Given the description of an element on the screen output the (x, y) to click on. 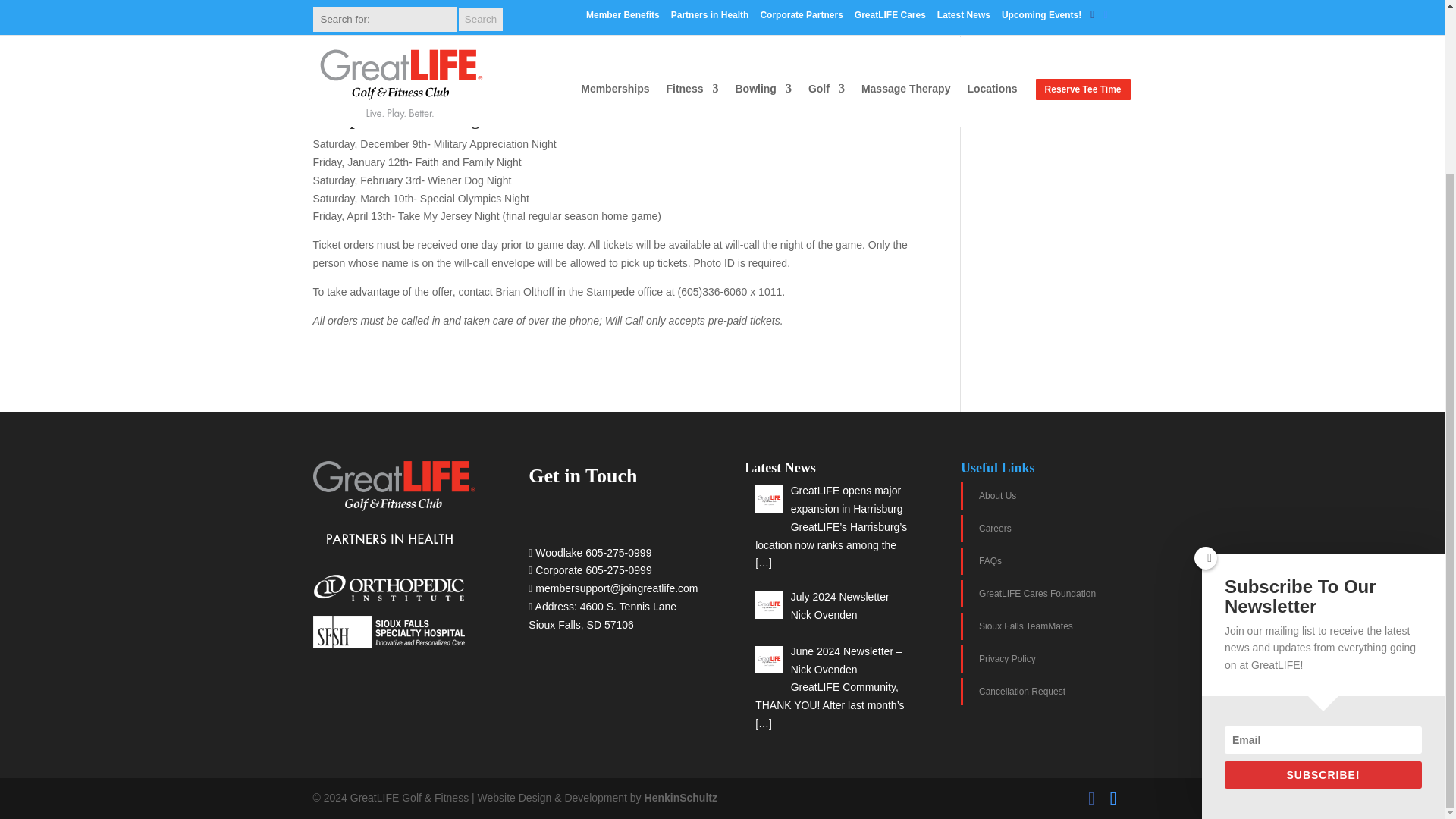
HenkinSchultz Creative Services (681, 797)
